Given the description of an element on the screen output the (x, y) to click on. 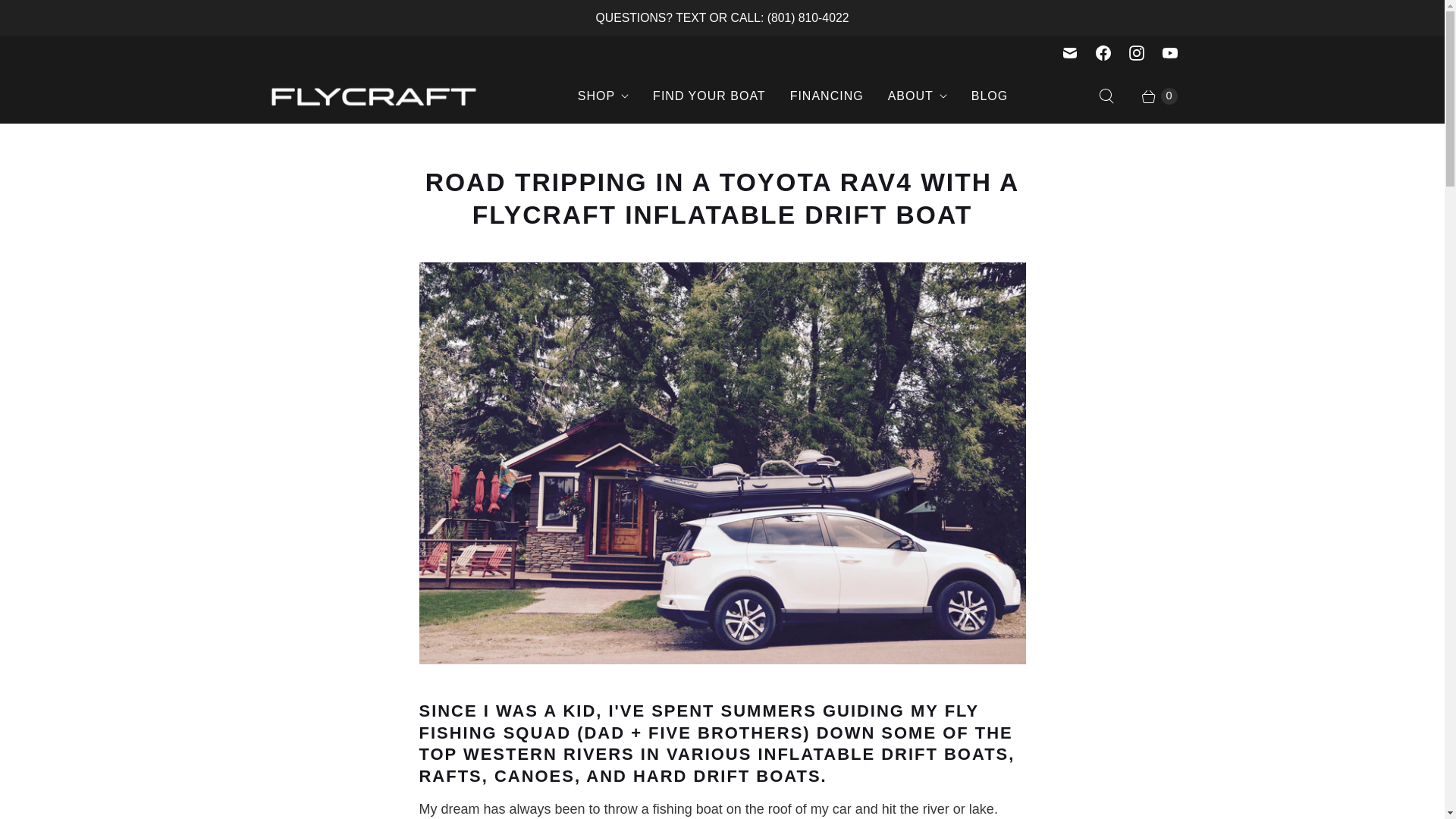
BLOG (989, 95)
FIND YOUR BOAT (708, 95)
0 (1151, 95)
FINANCING (826, 95)
